Given the description of an element on the screen output the (x, y) to click on. 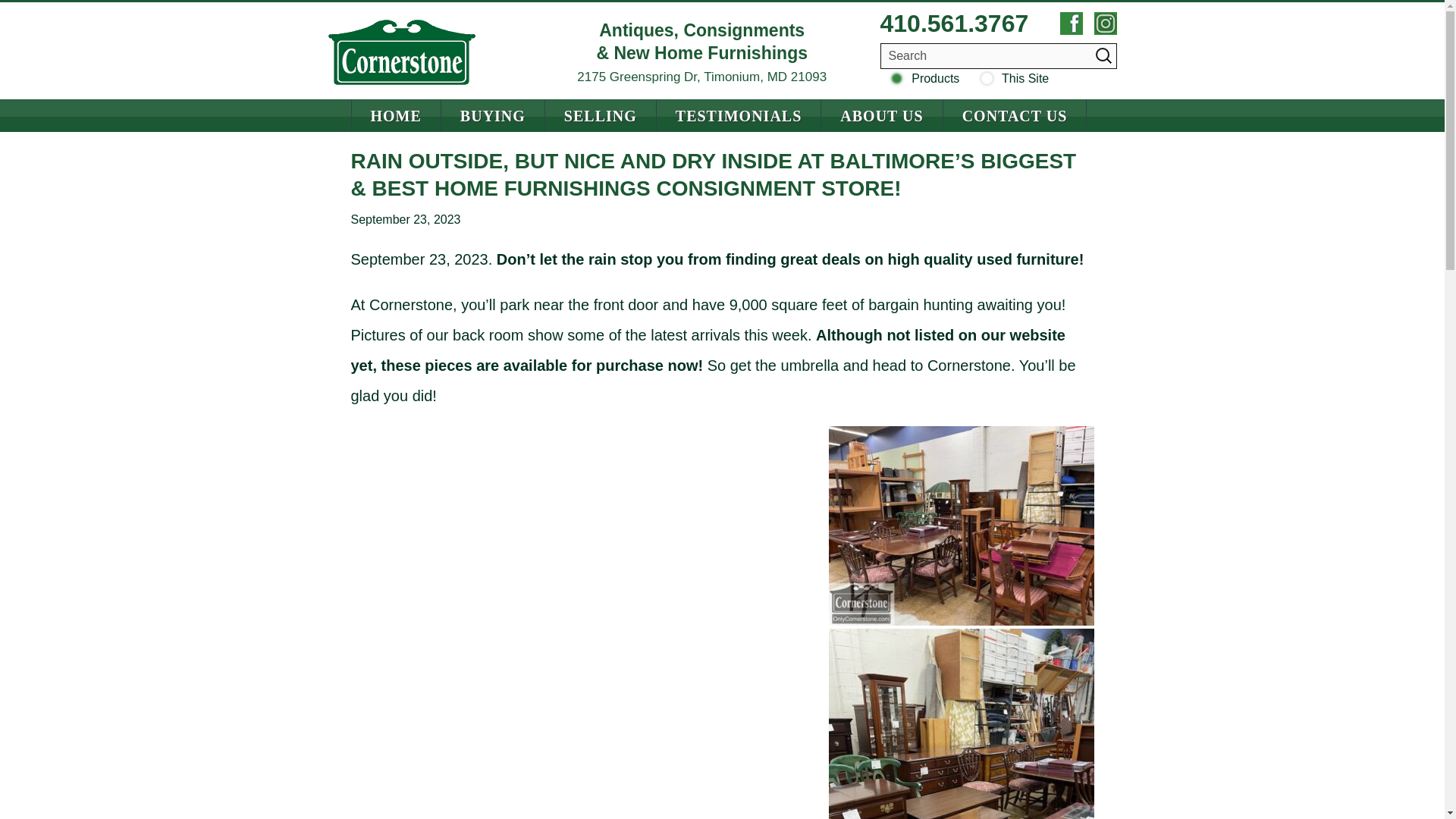
CONTACT US (1014, 115)
TESTIMONIALS (738, 115)
Search (997, 55)
FAQ (650, 148)
HOME (396, 115)
ABOUT US (881, 115)
STORE NEWS (927, 148)
BUYING (492, 115)
SELLING (600, 115)
WHY SHOP CORNERSTONE? (547, 148)
410.561.3767 (953, 23)
